Given the description of an element on the screen output the (x, y) to click on. 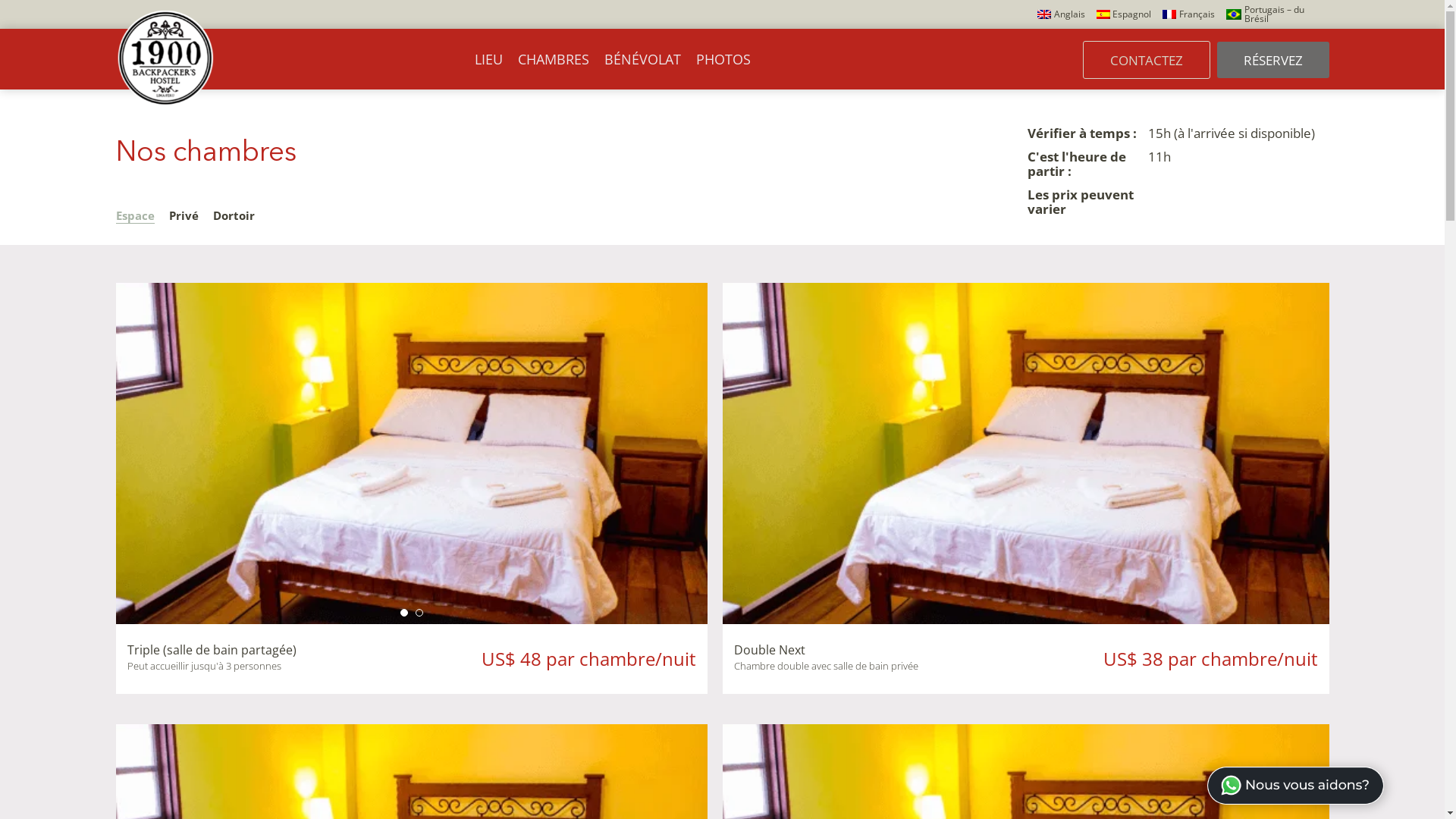
Espagnol Element type: text (1123, 13)
Dortoir Element type: text (233, 215)
CHAMBRES Element type: text (552, 58)
PHOTOS Element type: text (723, 58)
LIEU Element type: text (488, 58)
Espace Element type: text (134, 215)
CONTACTEZ Element type: text (1146, 59)
Anglais Element type: text (1061, 13)
1 Element type: text (403, 612)
2 Element type: text (419, 612)
